Given the description of an element on the screen output the (x, y) to click on. 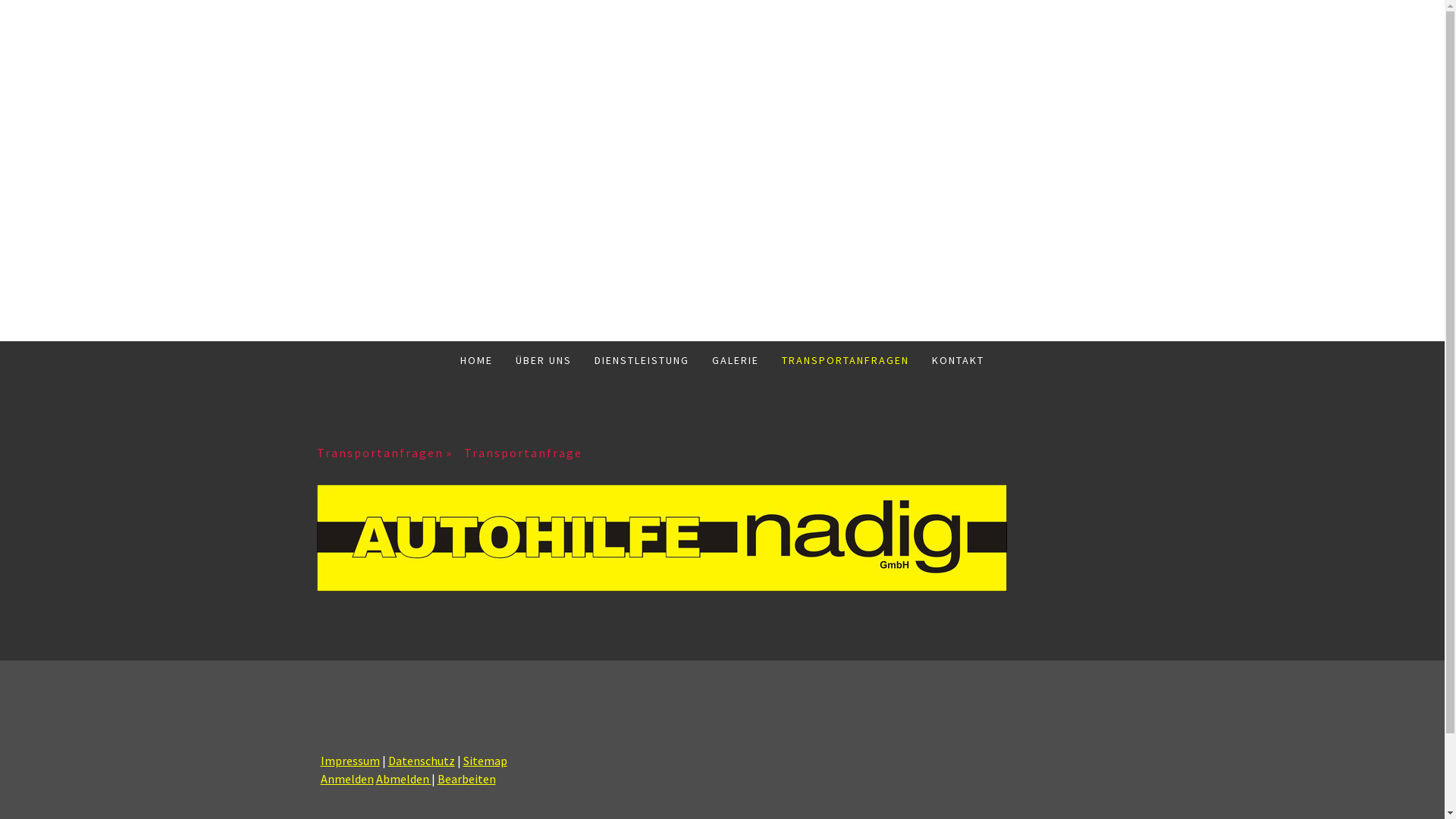
Datenschutz Element type: text (421, 760)
Sitemap Element type: text (484, 760)
HOME Element type: text (476, 360)
KONTAKT Element type: text (957, 360)
Anmelden Element type: text (346, 778)
Transportanfrage Element type: text (530, 452)
DIENSTLEISTUNG Element type: text (641, 360)
TRANSPORTANFRAGEN Element type: text (845, 360)
Transportanfragen Element type: text (390, 452)
GALERIE Element type: text (735, 360)
Impressum Element type: text (349, 760)
Abmelden Element type: text (403, 778)
Bearbeiten Element type: text (465, 778)
